Given the description of an element on the screen output the (x, y) to click on. 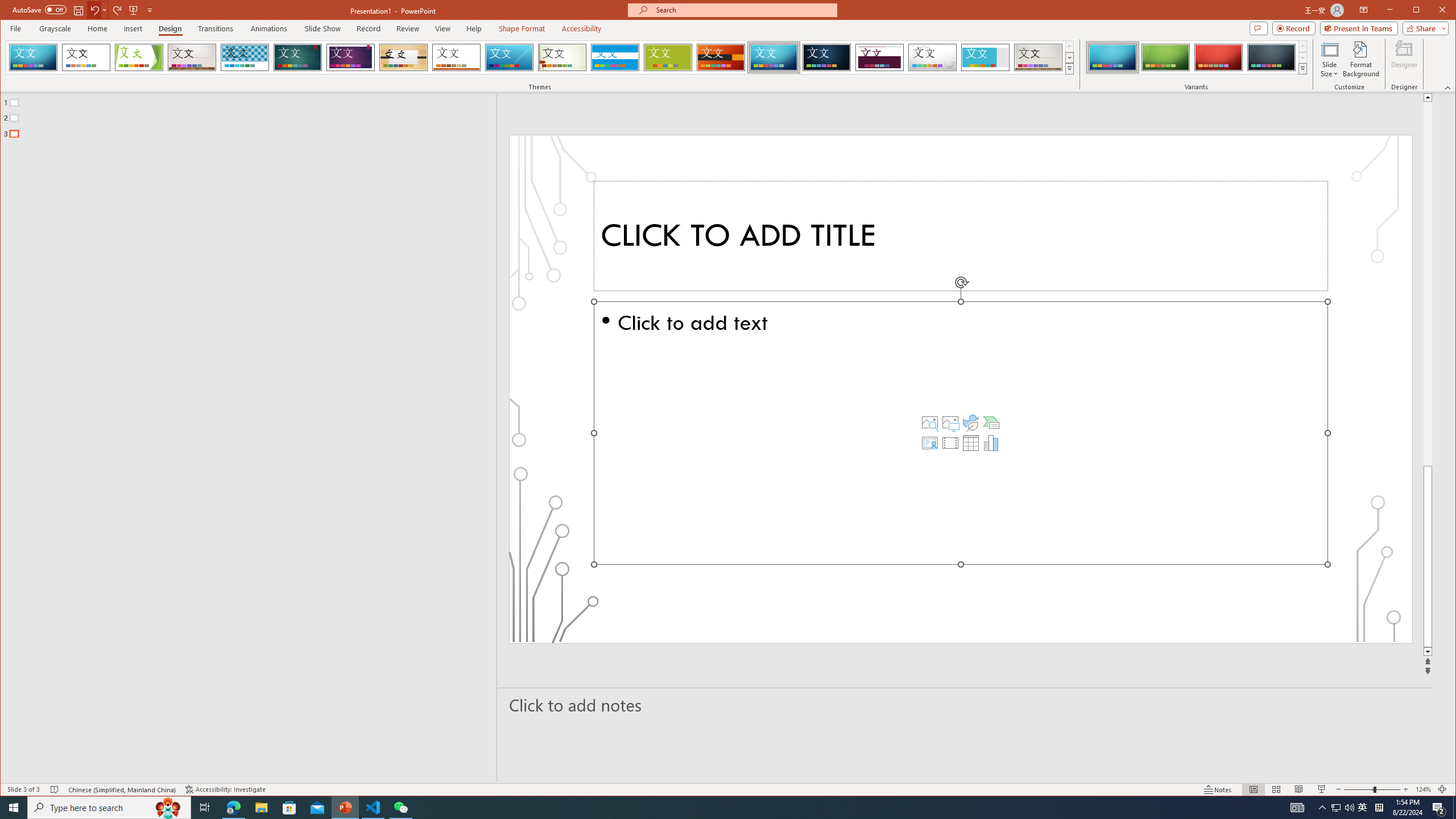
Stock Images (929, 422)
Organic (403, 57)
Berlin (720, 57)
Frame (985, 57)
Slice (509, 57)
